Given the description of an element on the screen output the (x, y) to click on. 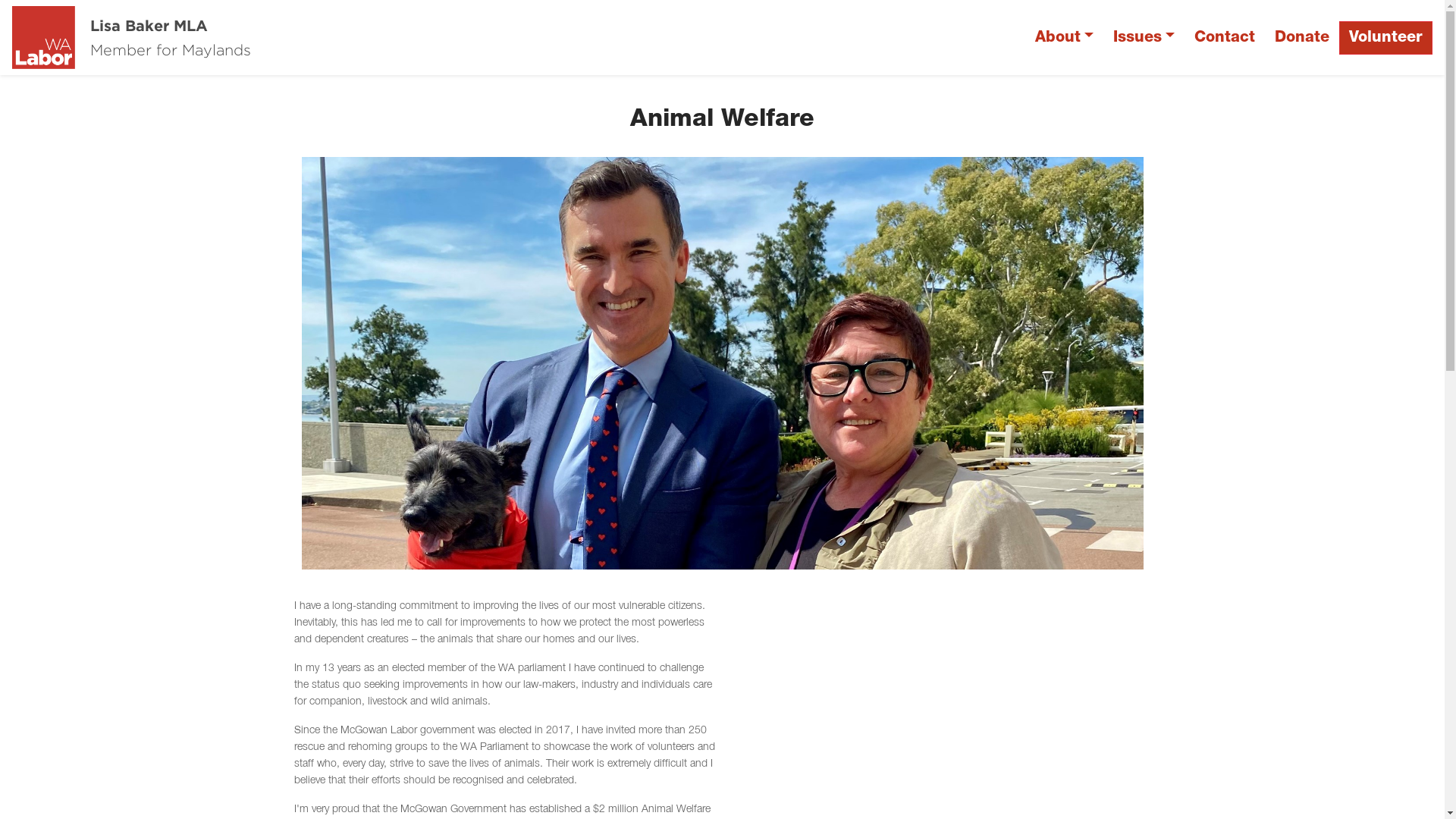
About Element type: text (1064, 37)
Contact Element type: text (1224, 37)
Issues Element type: text (1143, 37)
Donate Element type: text (1301, 37)
Volunteer Element type: text (1385, 37)
